Given the description of an element on the screen output the (x, y) to click on. 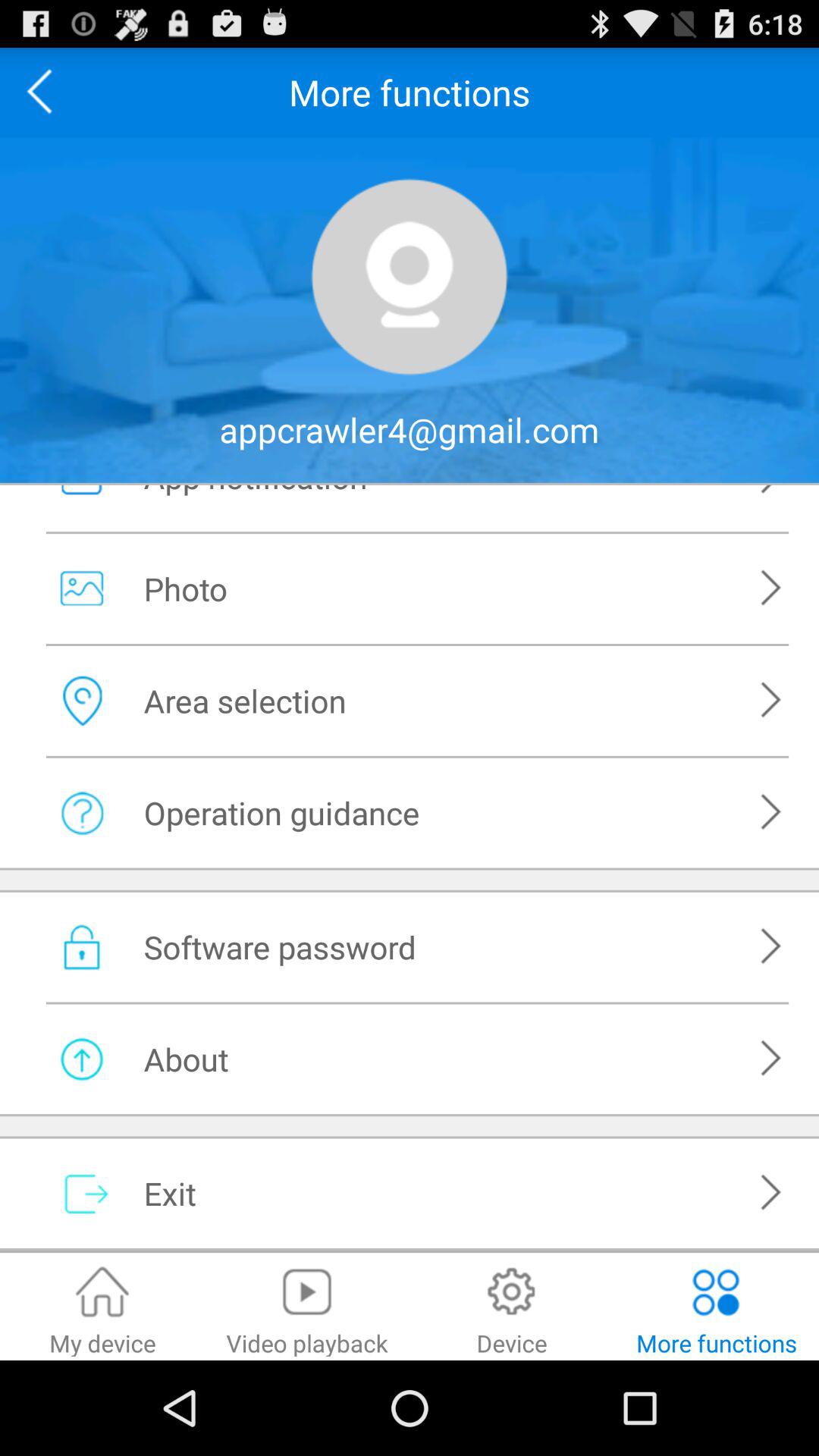
open webcam (409, 276)
